Given the description of an element on the screen output the (x, y) to click on. 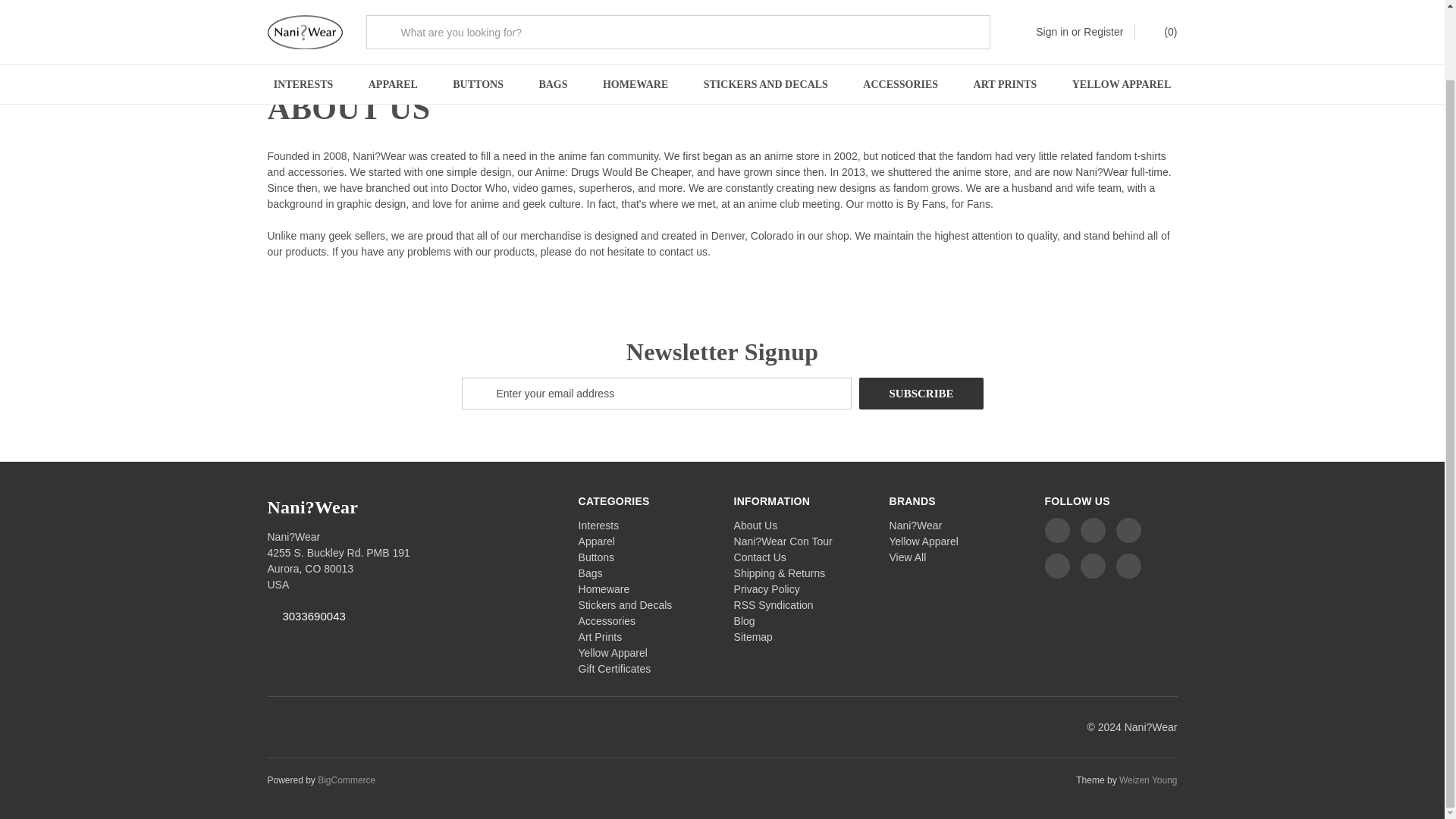
Subscribe (920, 393)
APPAREL (392, 13)
BUTTONS (478, 13)
INTERESTS (303, 13)
